Given the description of an element on the screen output the (x, y) to click on. 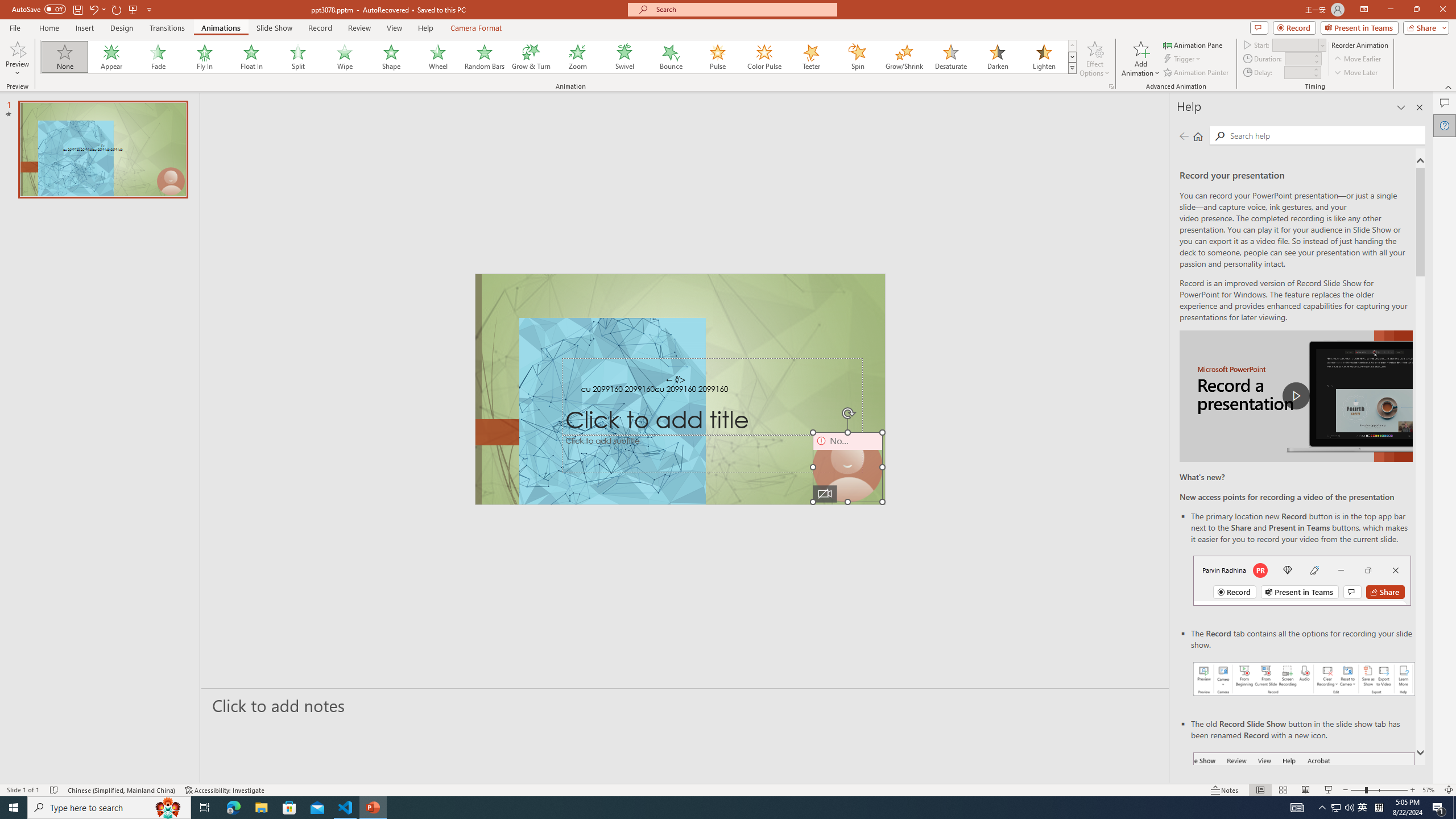
Appear (111, 56)
Spin (857, 56)
More Options... (1110, 85)
Shape (391, 56)
Previous page (1183, 136)
Subtitle TextBox (712, 453)
